Given the description of an element on the screen output the (x, y) to click on. 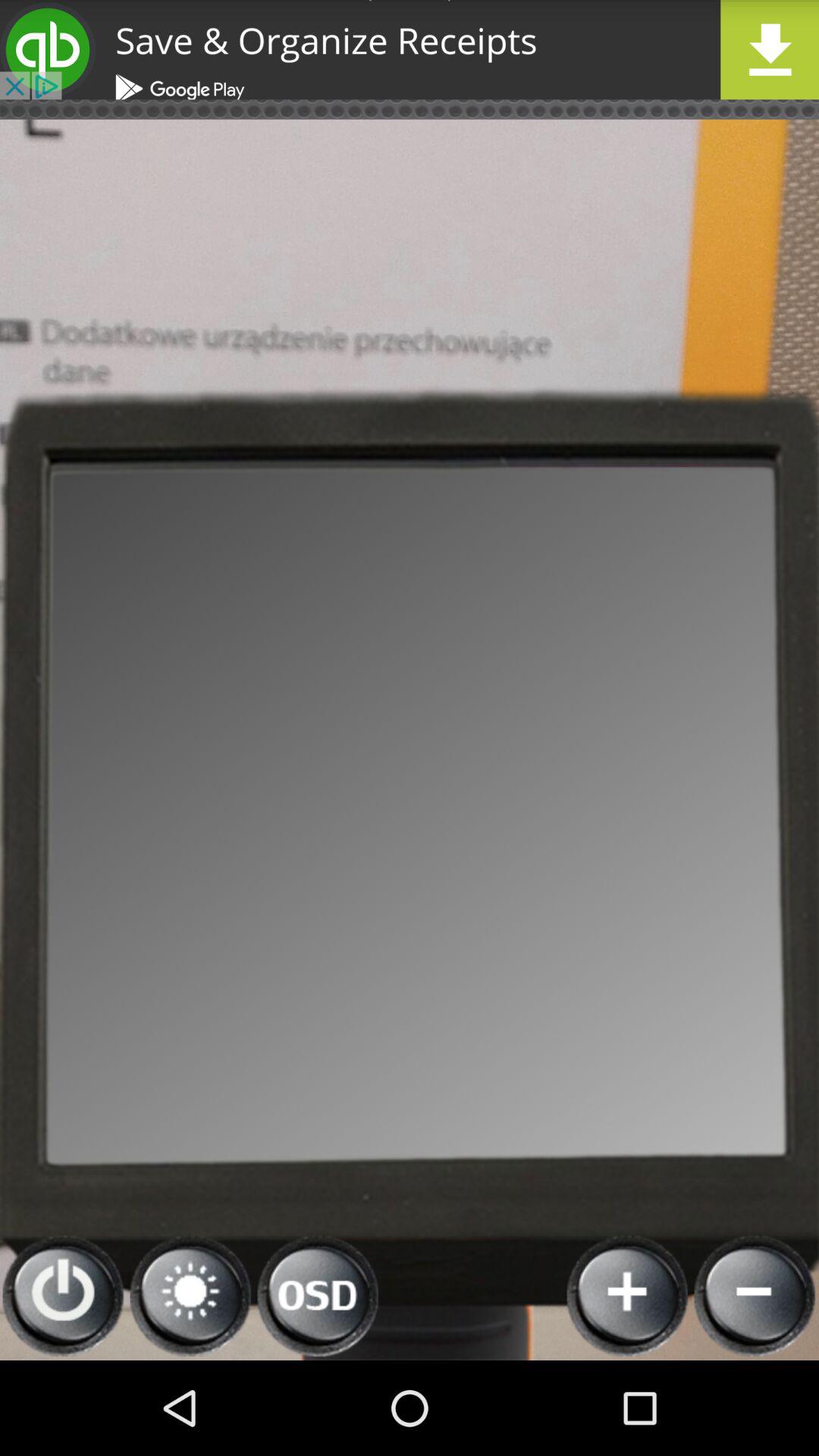
brightness option (190, 1296)
